Given the description of an element on the screen output the (x, y) to click on. 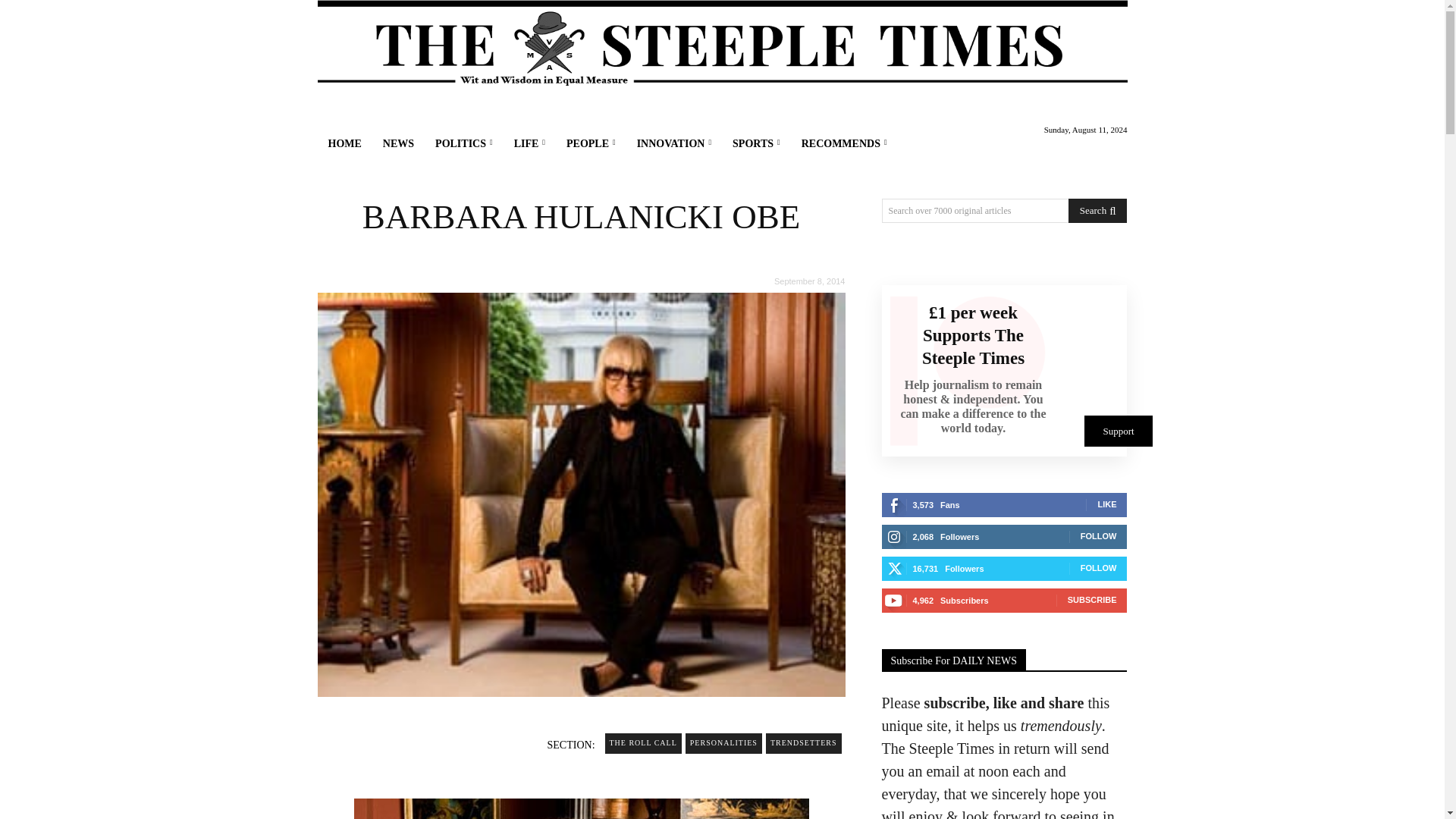
NEWS (398, 144)
HOME (344, 144)
INNOVATION (674, 144)
POLITICS (464, 144)
PEOPLE (591, 144)
The Latest News, Wit and Review (721, 44)
LIFE (529, 144)
